Given the description of an element on the screen output the (x, y) to click on. 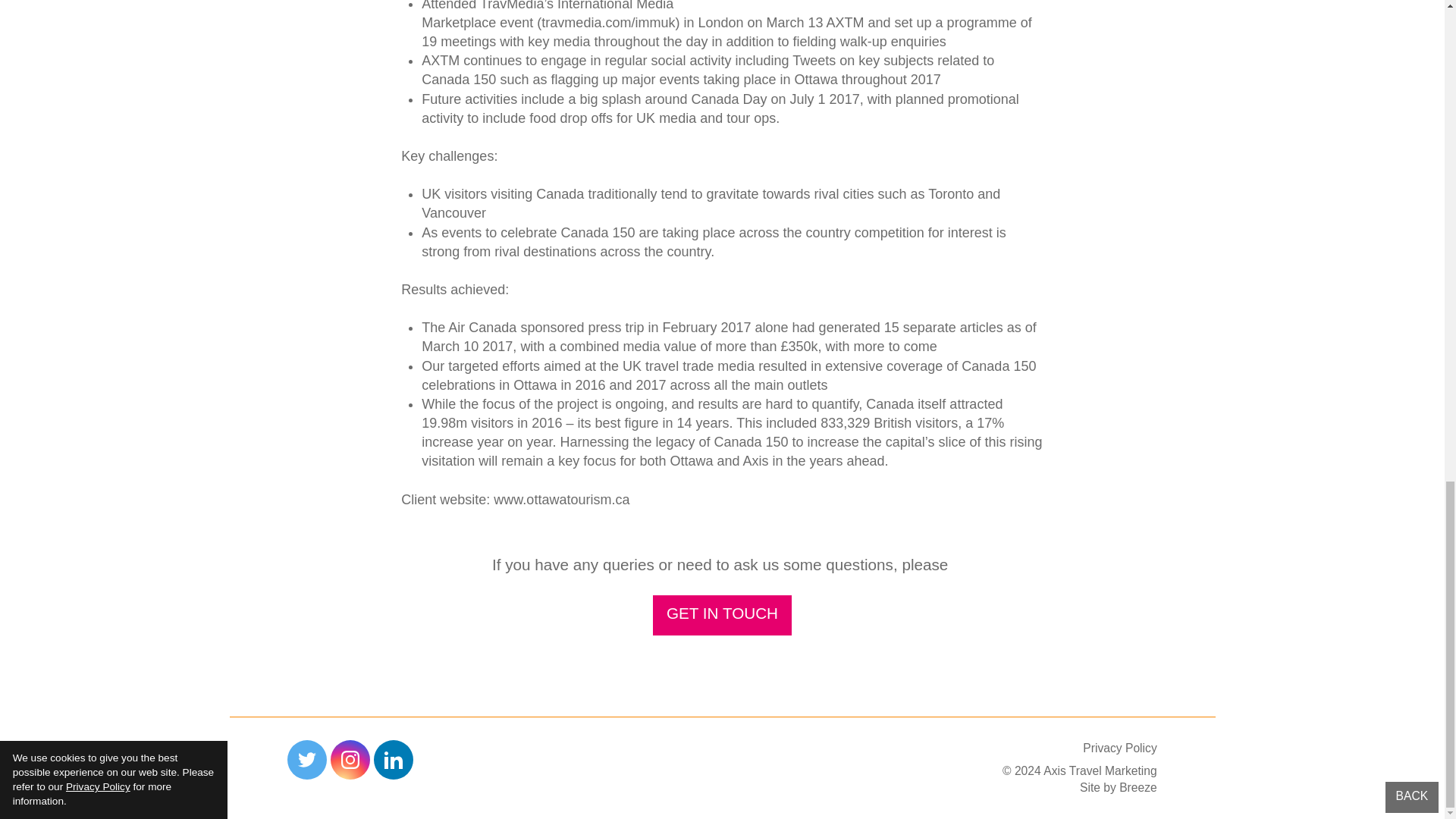
Breeze (1138, 787)
LinkedIn (393, 759)
Privacy Policy (1119, 748)
GET IN TOUCH (722, 615)
Instagram (349, 759)
Twitter (306, 759)
